Given the description of an element on the screen output the (x, y) to click on. 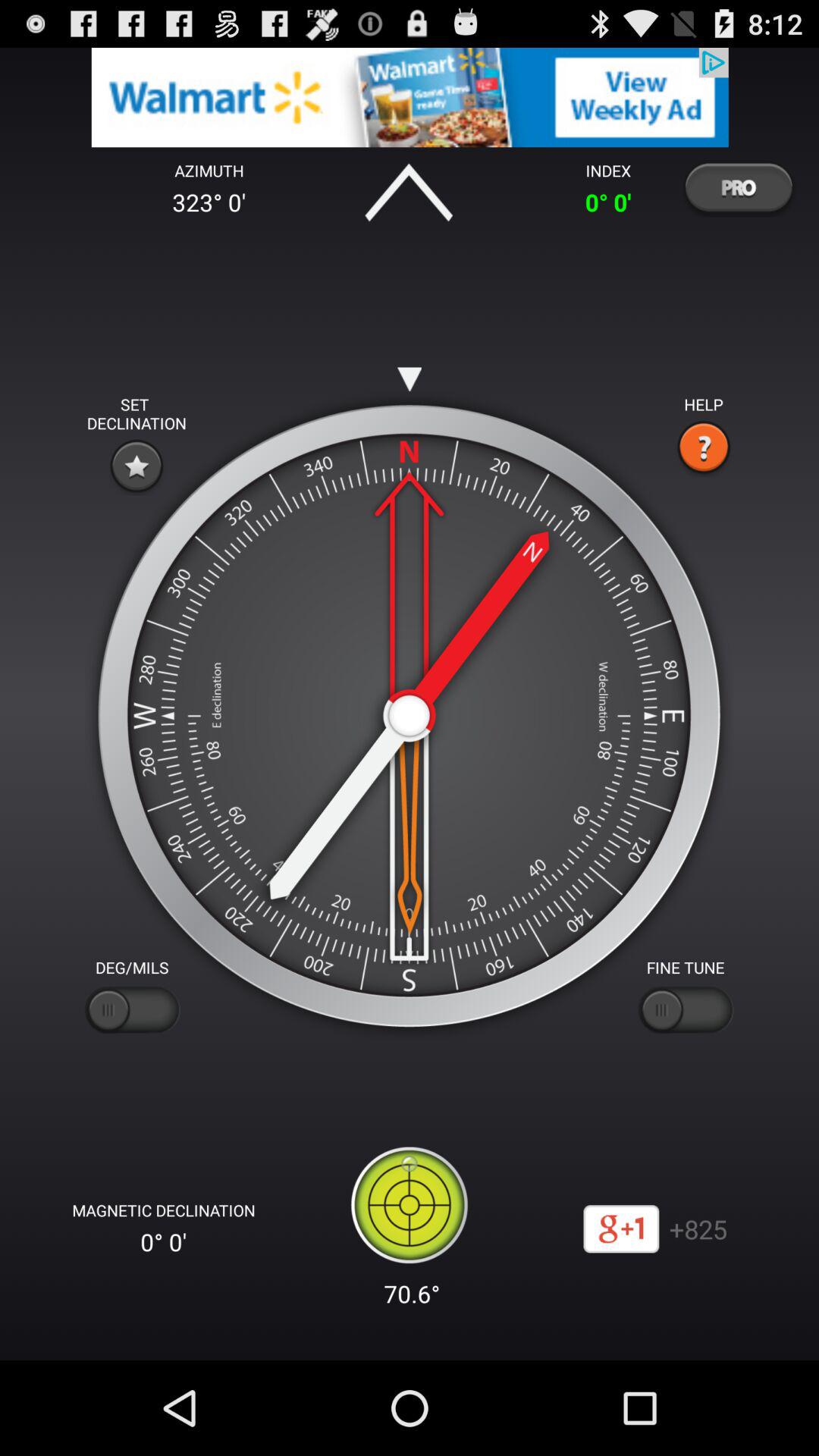
buy pro version (737, 187)
